Given the description of an element on the screen output the (x, y) to click on. 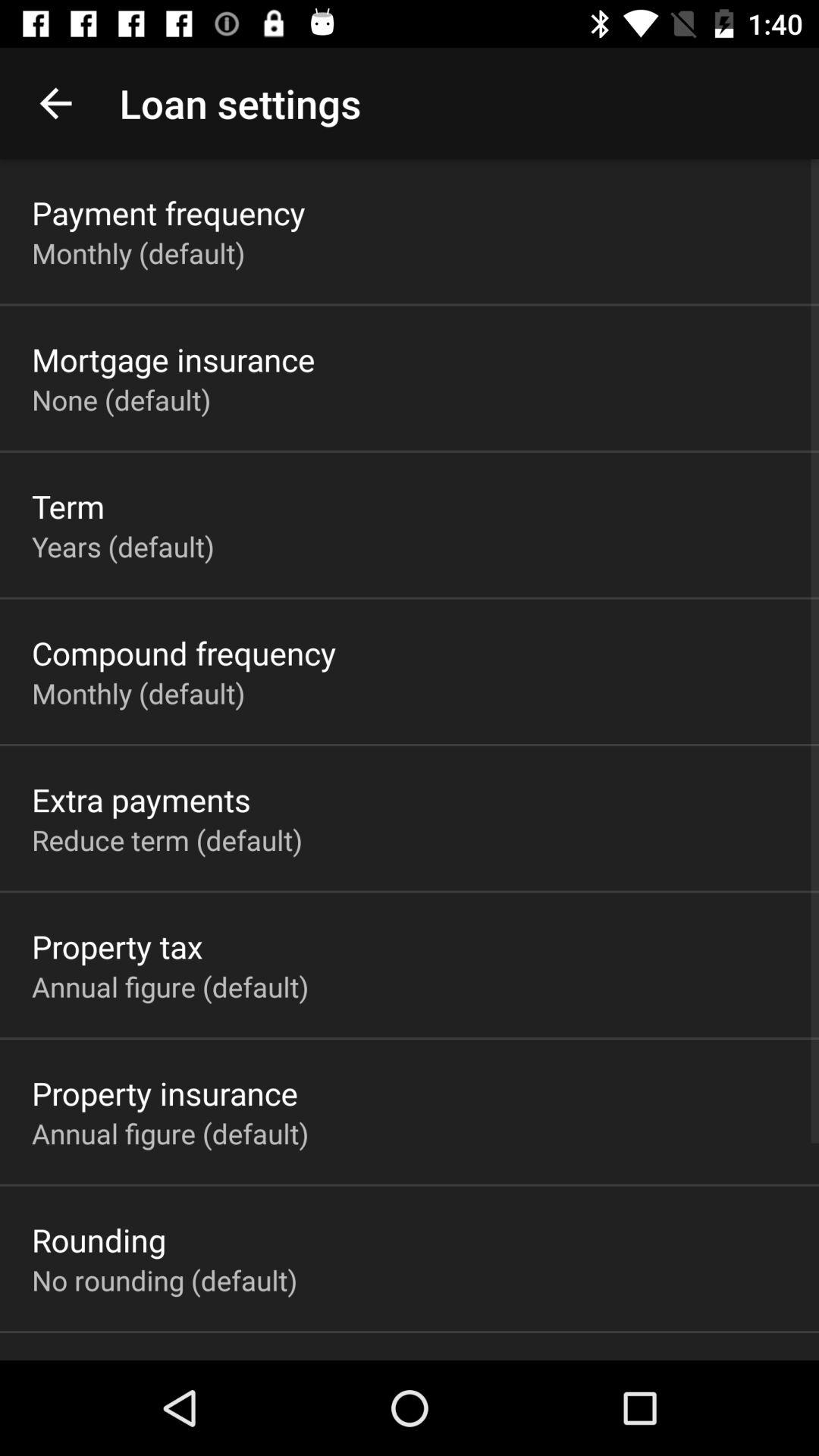
turn off none (default) app (121, 399)
